Given the description of an element on the screen output the (x, y) to click on. 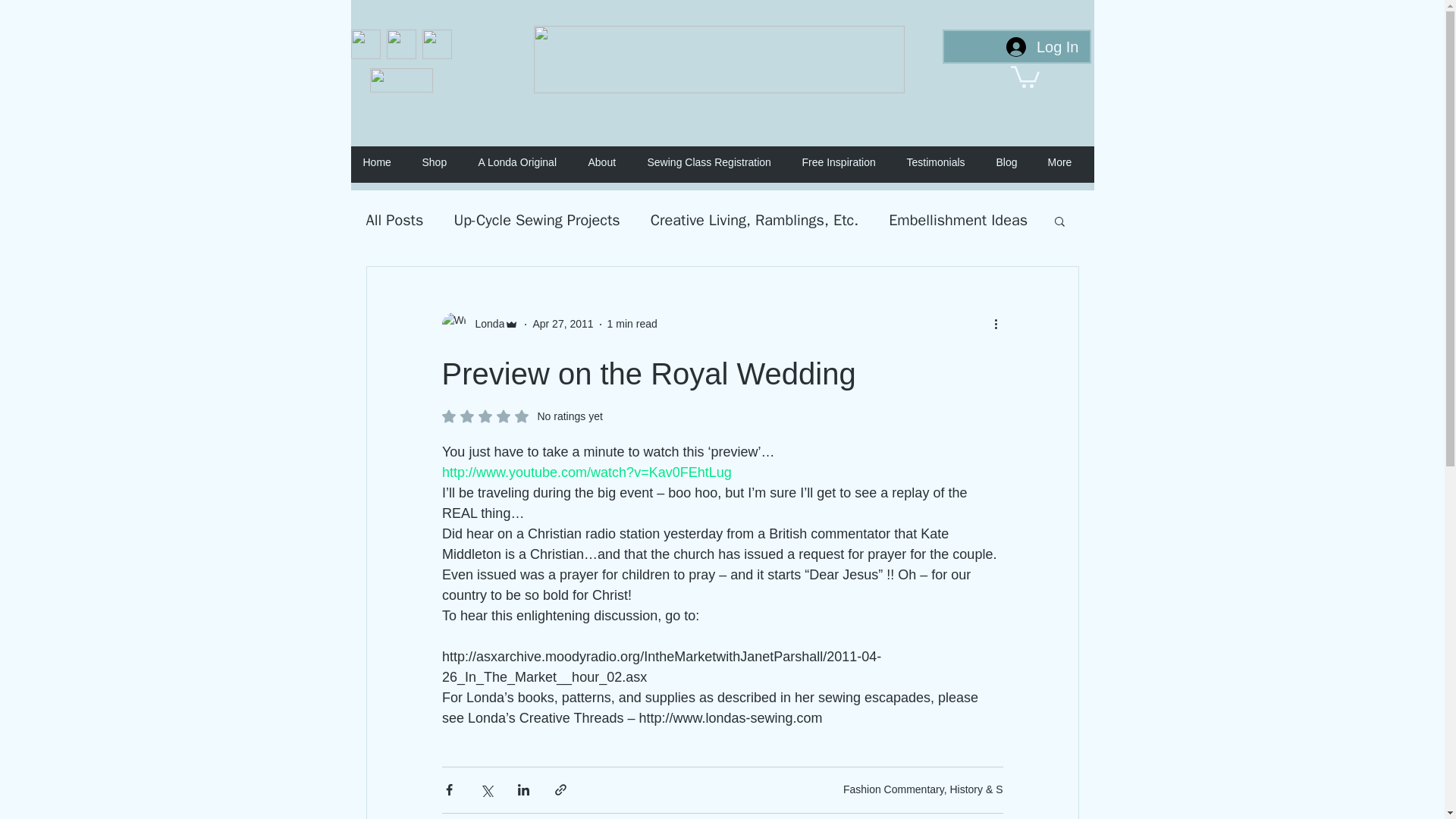
Embellishment Ideas (957, 219)
3mewelogo.png (400, 79)
Shop (441, 162)
All Posts (394, 219)
Testimonials (943, 162)
Free Inspiration (846, 162)
About (610, 162)
Home (384, 162)
Creative Living, Ramblings, Etc. (754, 219)
Log In (1042, 46)
